Given the description of an element on the screen output the (x, y) to click on. 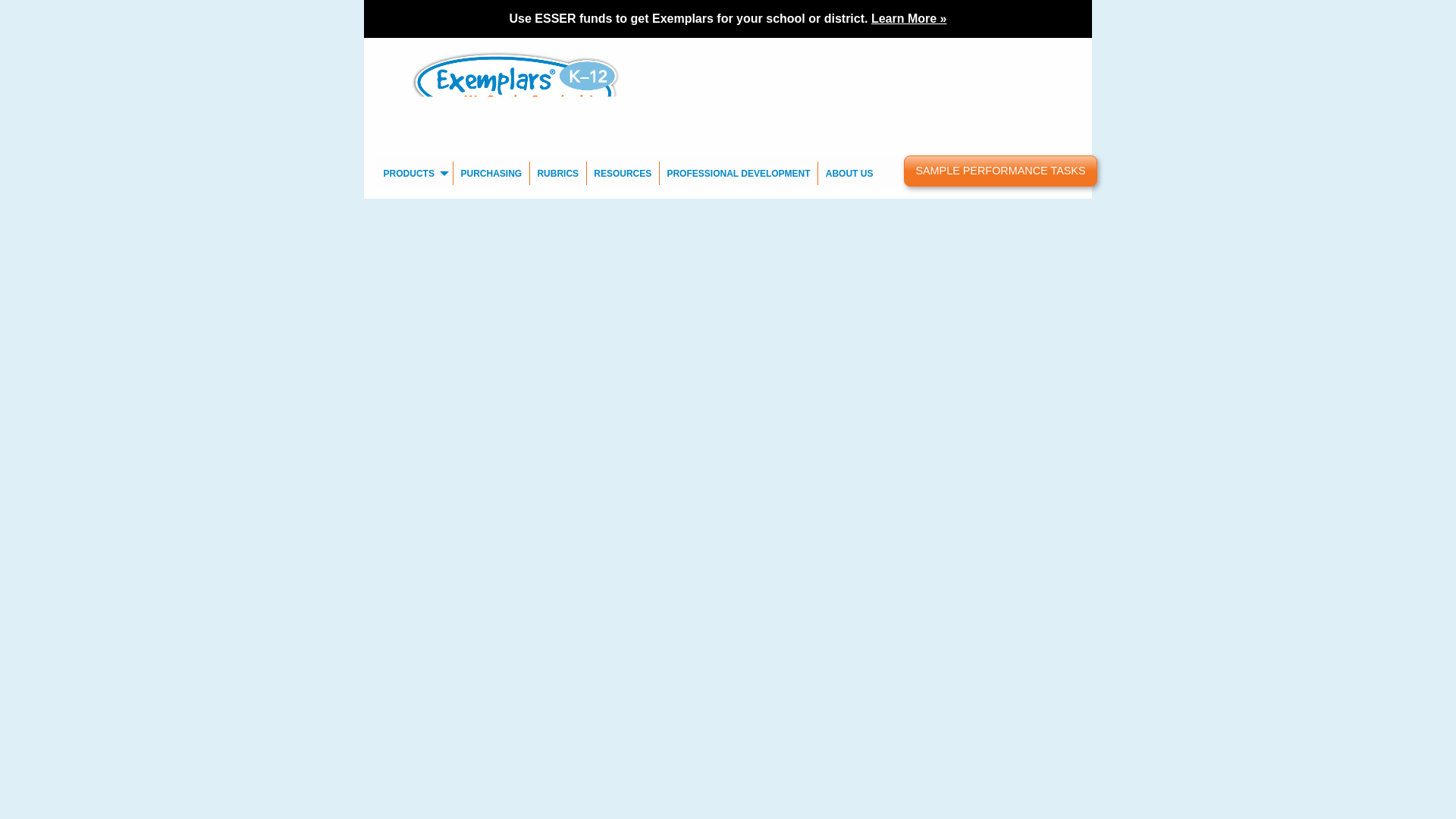
RESOURCES (622, 173)
ABOUT US (849, 173)
RUBRICS (557, 173)
SAMPLE PERFORMANCE TASKS (1000, 170)
PRODUCTS (413, 173)
PURCHASING (490, 173)
LIBRARY LOGIN (1031, 49)
CONTACT US (889, 49)
OUR BLOG (957, 49)
PROFESSIONAL DEVELOPMENT (738, 173)
